Given the description of an element on the screen output the (x, y) to click on. 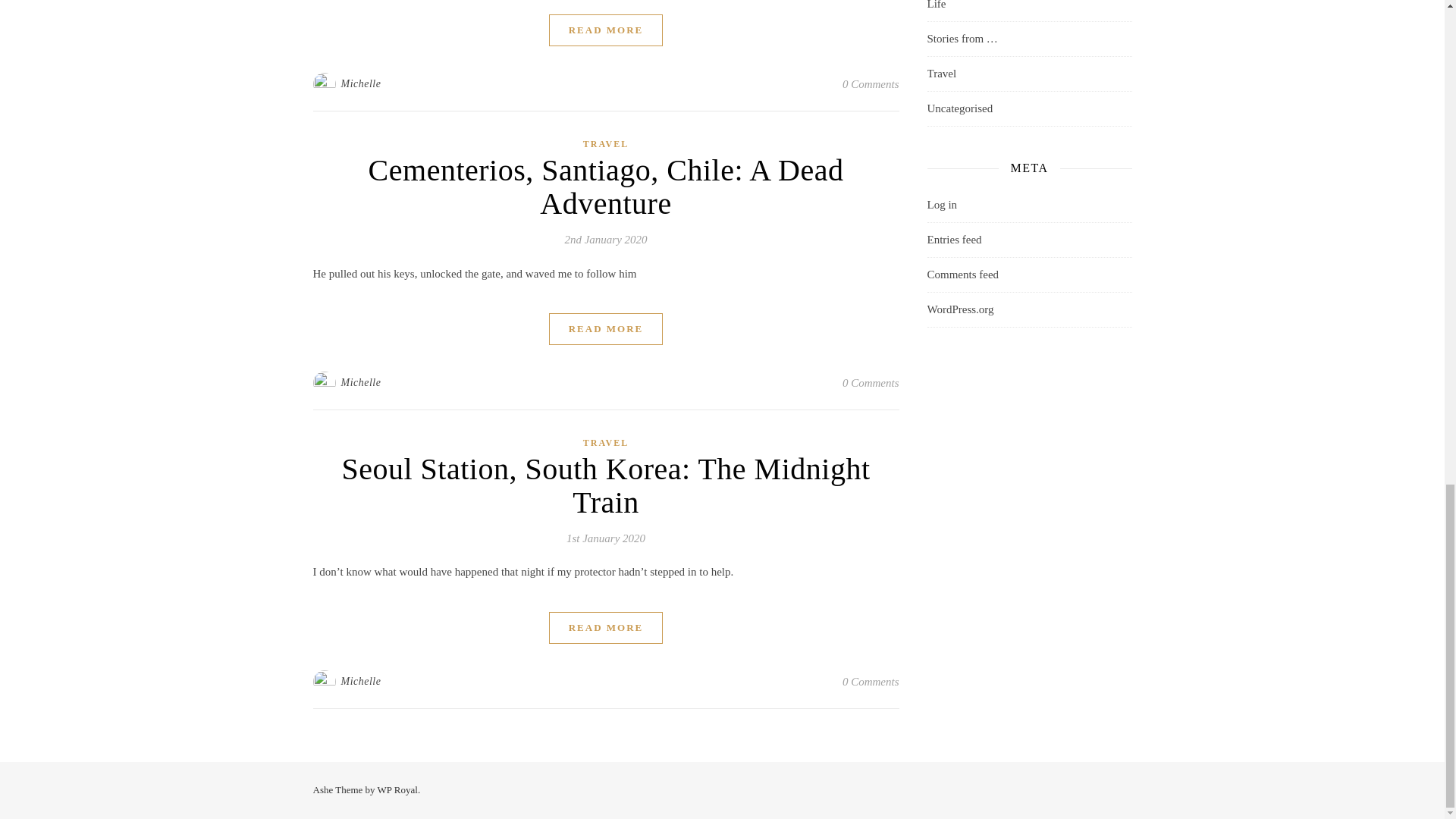
Michelle (360, 83)
READ MORE (605, 29)
Posts by Michelle (360, 382)
0 Comments (871, 83)
Posts by Michelle (360, 681)
TRAVEL (605, 144)
Posts by Michelle (360, 83)
